Given the description of an element on the screen output the (x, y) to click on. 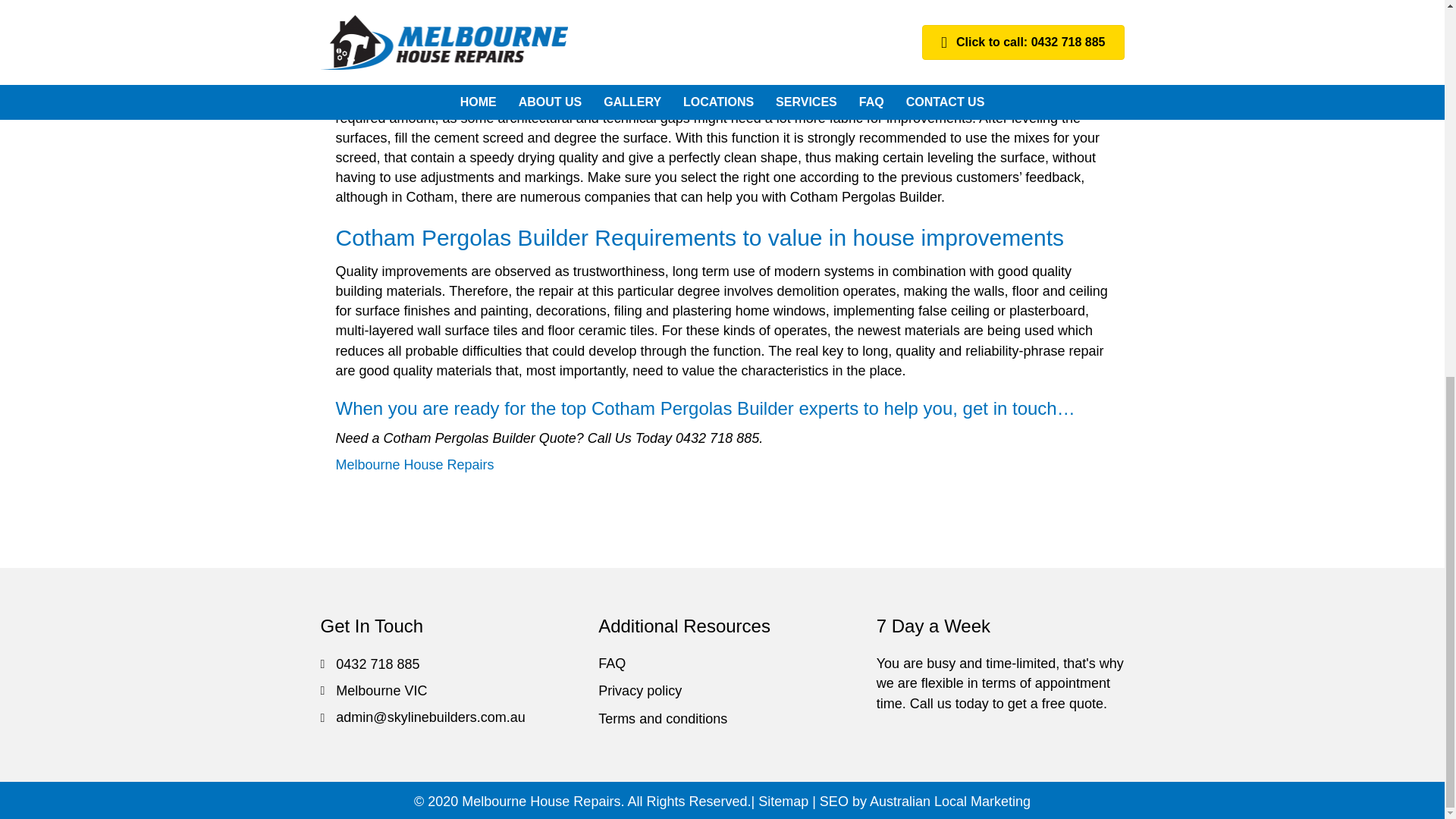
FAQ (612, 663)
Melbourne VIC (381, 690)
Australian Local Marketing (949, 801)
Sitemap (783, 801)
Melbourne House Repairs (413, 464)
Terms and conditions (662, 718)
0432 718 885 (377, 664)
Privacy policy (639, 690)
Melbourne House Repairs (540, 801)
